Given the description of an element on the screen output the (x, y) to click on. 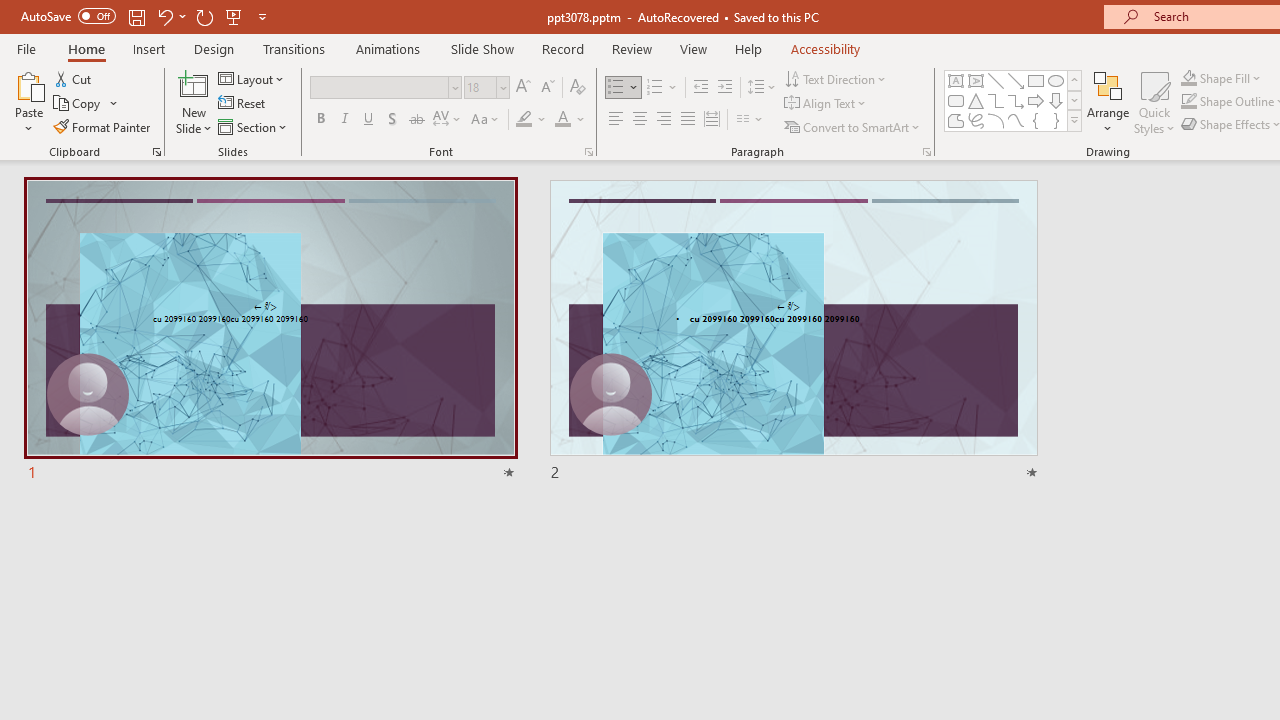
Shape Fill Dark Green, Accent 2 (1188, 78)
